Given the description of an element on the screen output the (x, y) to click on. 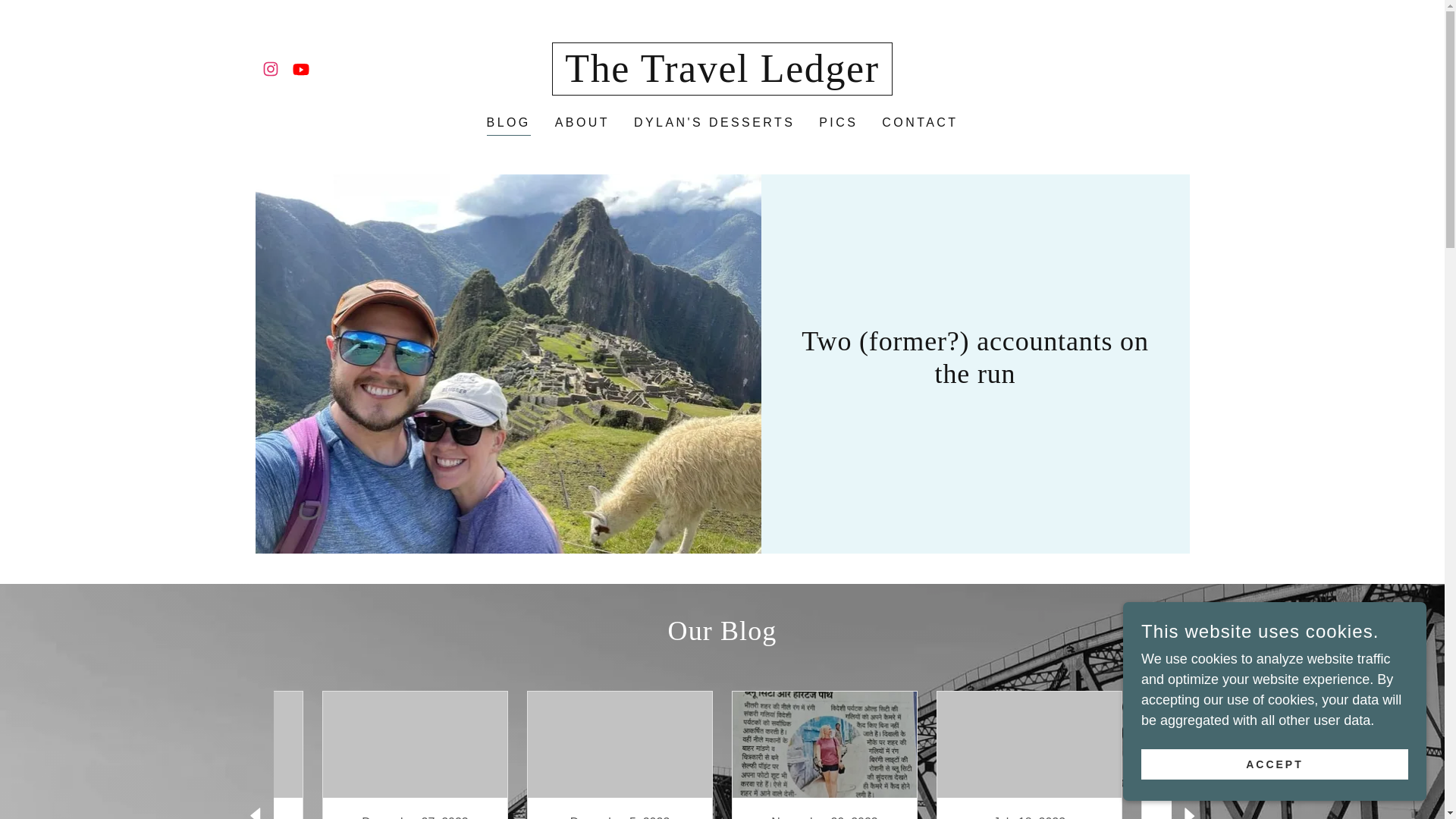
The Travel Ledger (721, 77)
CONTACT (414, 755)
ACCEPT (919, 122)
DYLAN'S DESSERTS (1274, 764)
BLOG (713, 122)
PICS (508, 124)
ABOUT (837, 122)
